Given the description of an element on the screen output the (x, y) to click on. 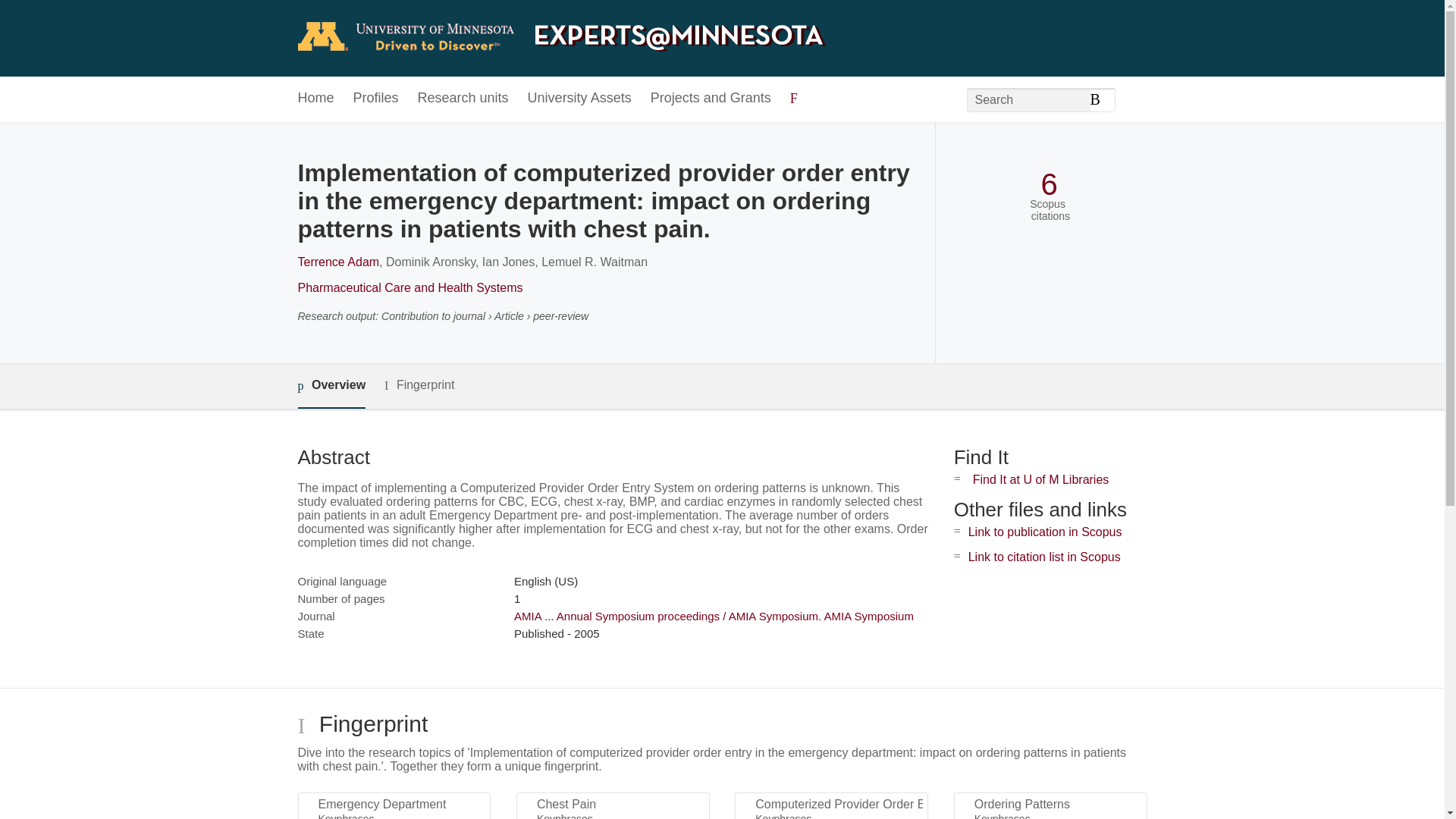
Fingerprint (419, 385)
Link to citation list in Scopus (1044, 556)
Profiles (375, 98)
Projects and Grants (710, 98)
University Assets (579, 98)
Pharmaceutical Care and Health Systems (409, 287)
Research units (462, 98)
Overview (331, 385)
Terrence Adam (337, 261)
